Given the description of an element on the screen output the (x, y) to click on. 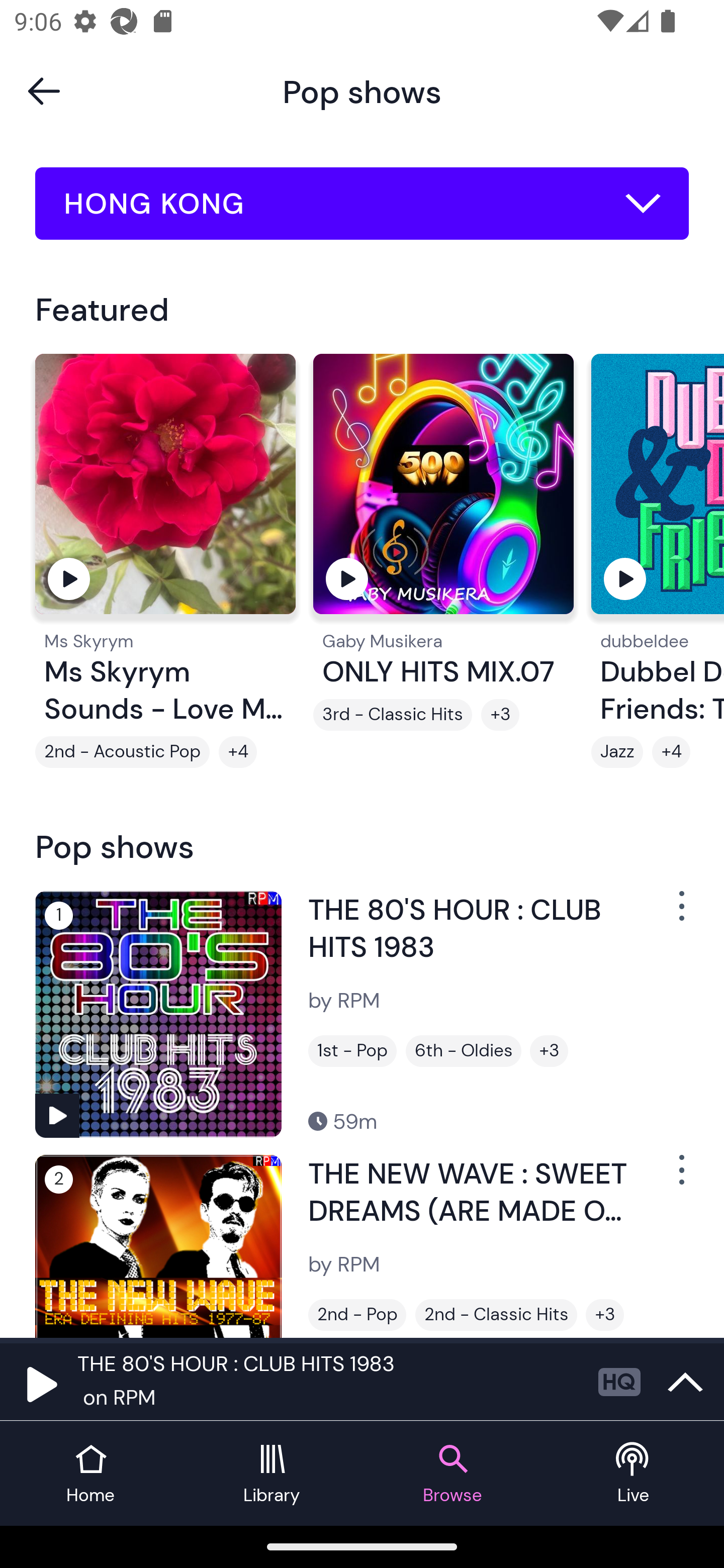
HONG KONG (361, 203)
3rd - Classic Hits (392, 714)
2nd - Acoustic Pop (122, 752)
Jazz (616, 752)
Show Options Menu Button (679, 913)
1st - Pop (352, 1050)
6th - Oldies (463, 1050)
Show Options Menu Button (679, 1178)
2nd - Pop (357, 1315)
2nd - Classic Hits (496, 1315)
Home tab Home (90, 1473)
Library tab Library (271, 1473)
Browse tab Browse (452, 1473)
Live tab Live (633, 1473)
